Given the description of an element on the screen output the (x, y) to click on. 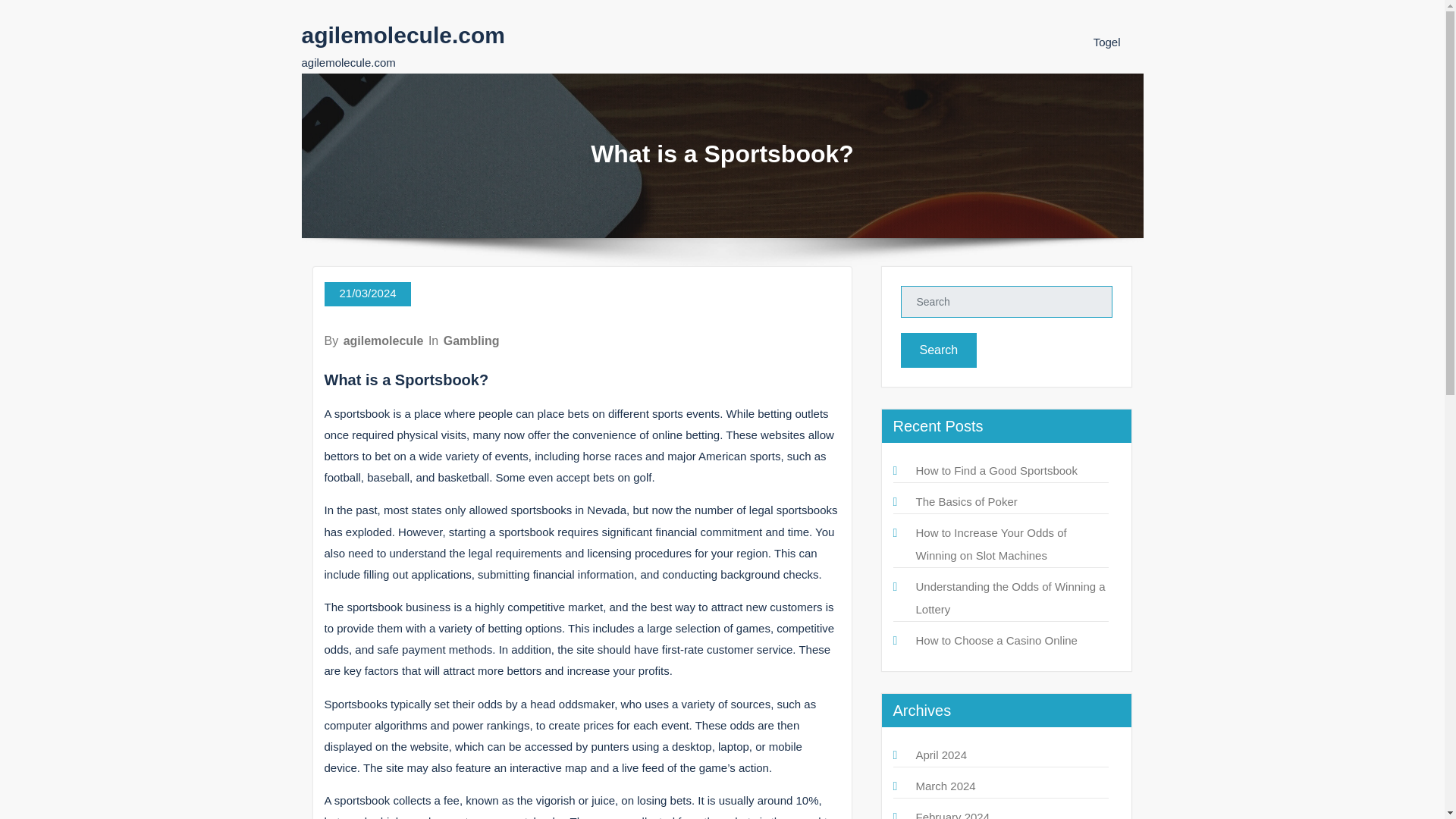
Understanding the Odds of Winning a Lottery (1010, 597)
Search (938, 349)
Togel (1107, 41)
March 2024 (945, 785)
April 2024 (941, 754)
agilemolecule.com (403, 34)
How to Find a Good Sportsbook (996, 470)
How to Choose a Casino Online (996, 640)
agilemolecule (383, 340)
February 2024 (952, 814)
Gambling (471, 340)
The Basics of Poker (966, 501)
How to Increase Your Odds of Winning on Slot Machines (991, 543)
